Given the description of an element on the screen output the (x, y) to click on. 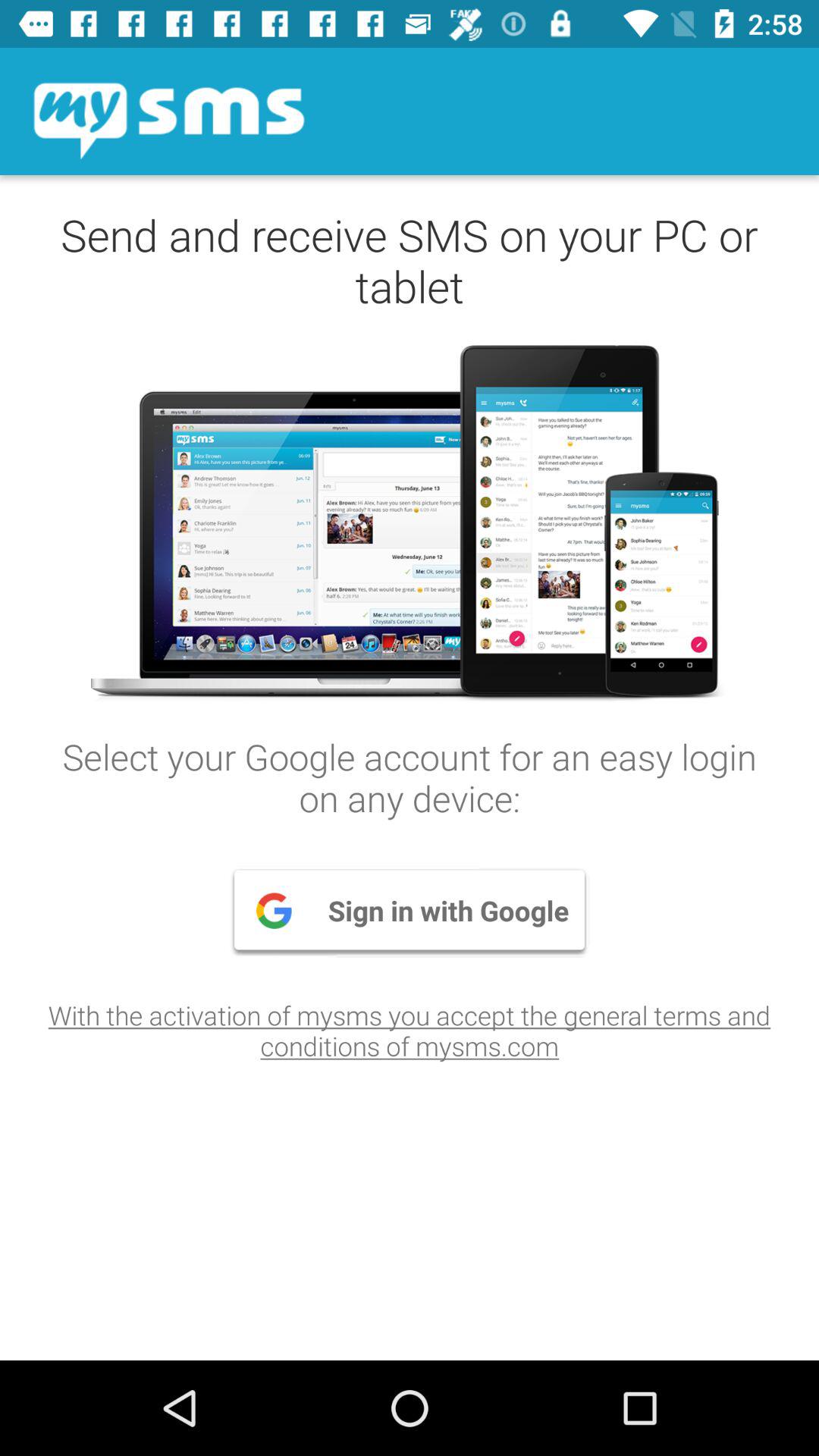
select sign in with (409, 909)
